Given the description of an element on the screen output the (x, y) to click on. 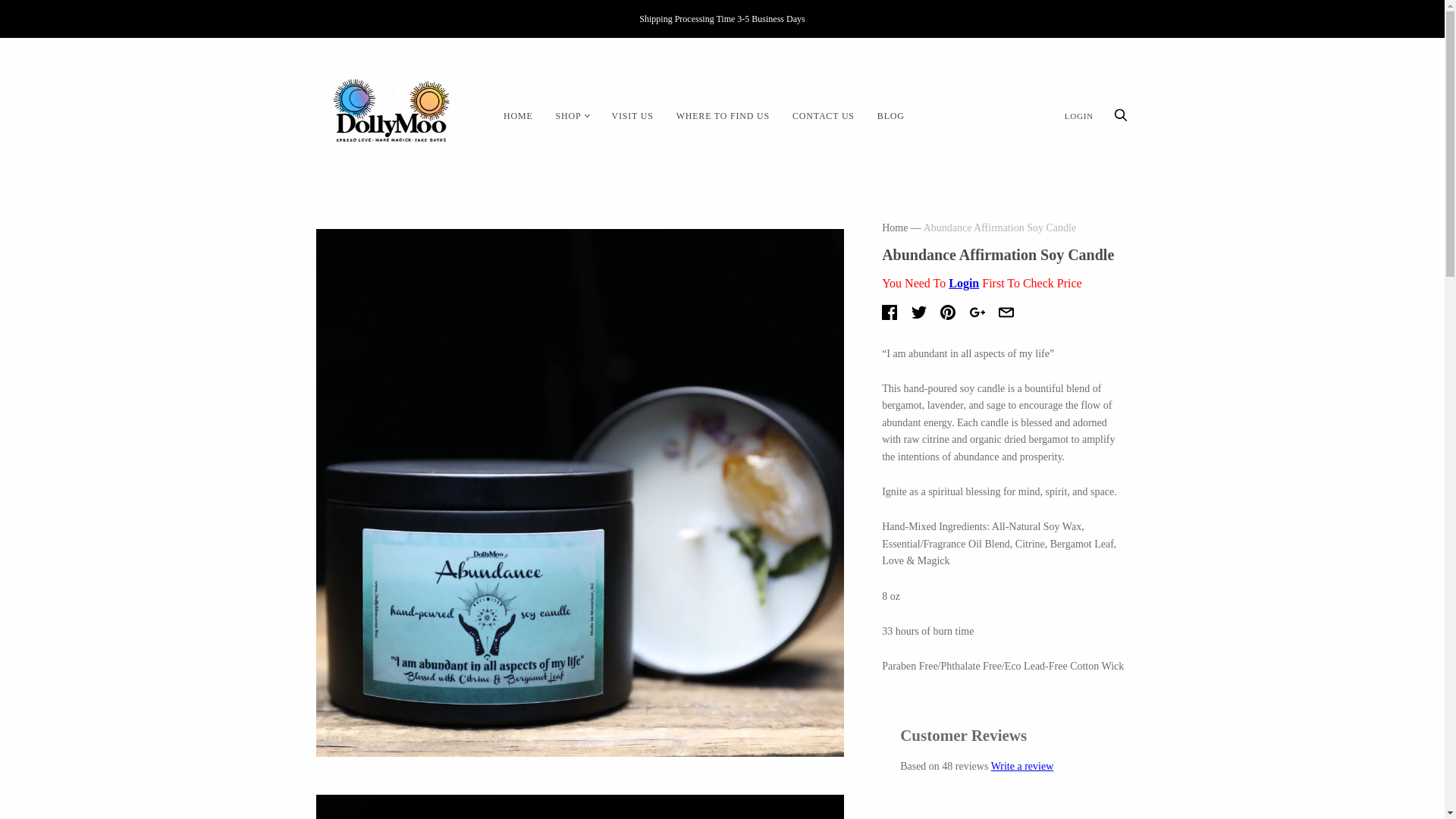
WHERE TO FIND US (722, 116)
VISIT US (631, 116)
Home (894, 227)
HOME (518, 116)
SHOP (568, 116)
CONTACT US (823, 116)
LOGIN (1078, 115)
Opens a widget where you can chat to one of our agents (57, 792)
BLOG (890, 116)
